Given the description of an element on the screen output the (x, y) to click on. 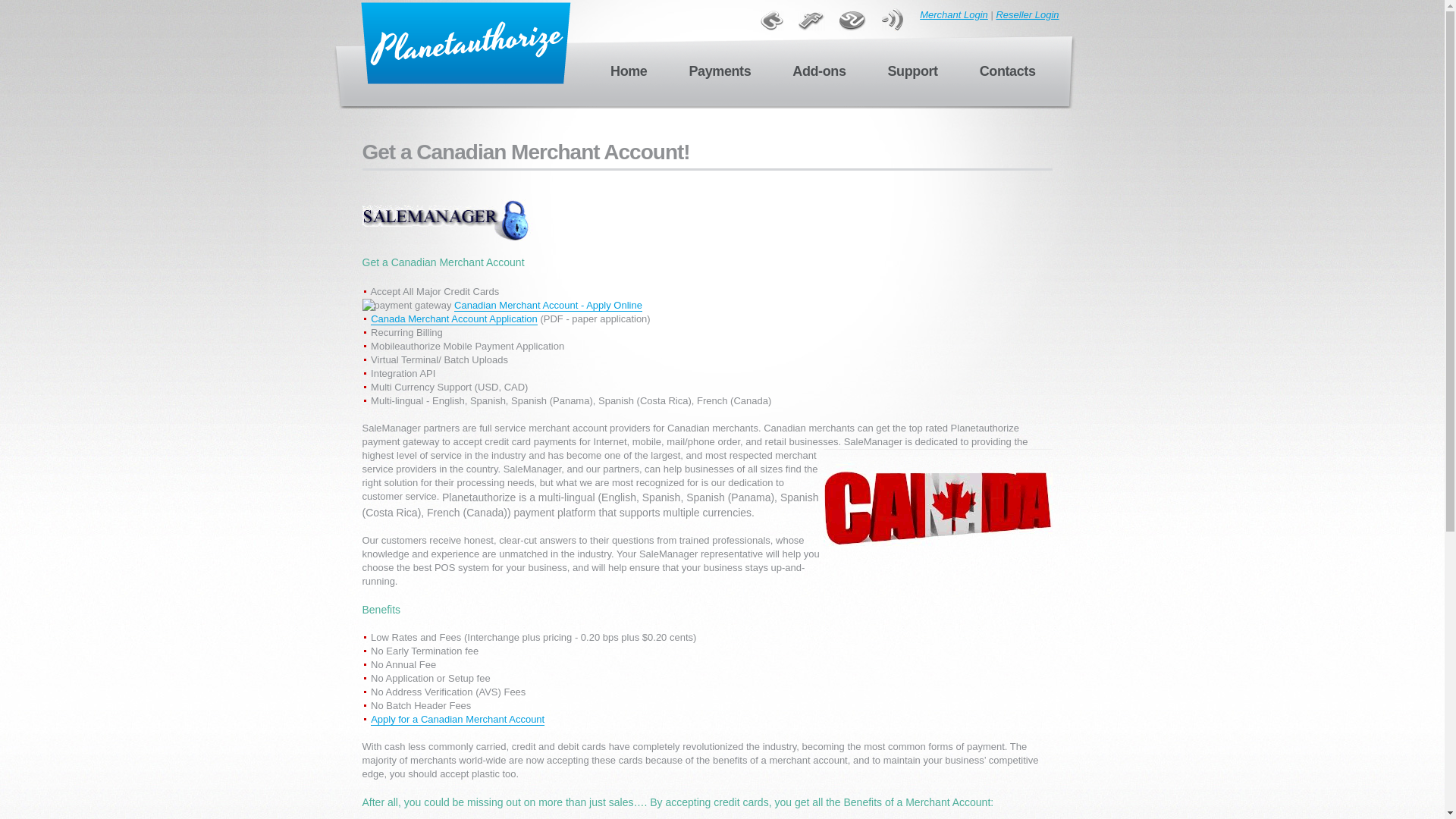
Merchant Login (954, 14)
Canadian Merchant Account - Apply Online (548, 305)
Reseller Login (1026, 14)
Contacts (1007, 70)
Add-ons (818, 70)
Payments (719, 70)
Home (628, 70)
Support (912, 70)
Canada Merchant Account Application (454, 318)
Planetauthorize (465, 43)
Apply for a Canadian Merchant Account (457, 719)
Planetauthorize (984, 428)
